Given the description of an element on the screen output the (x, y) to click on. 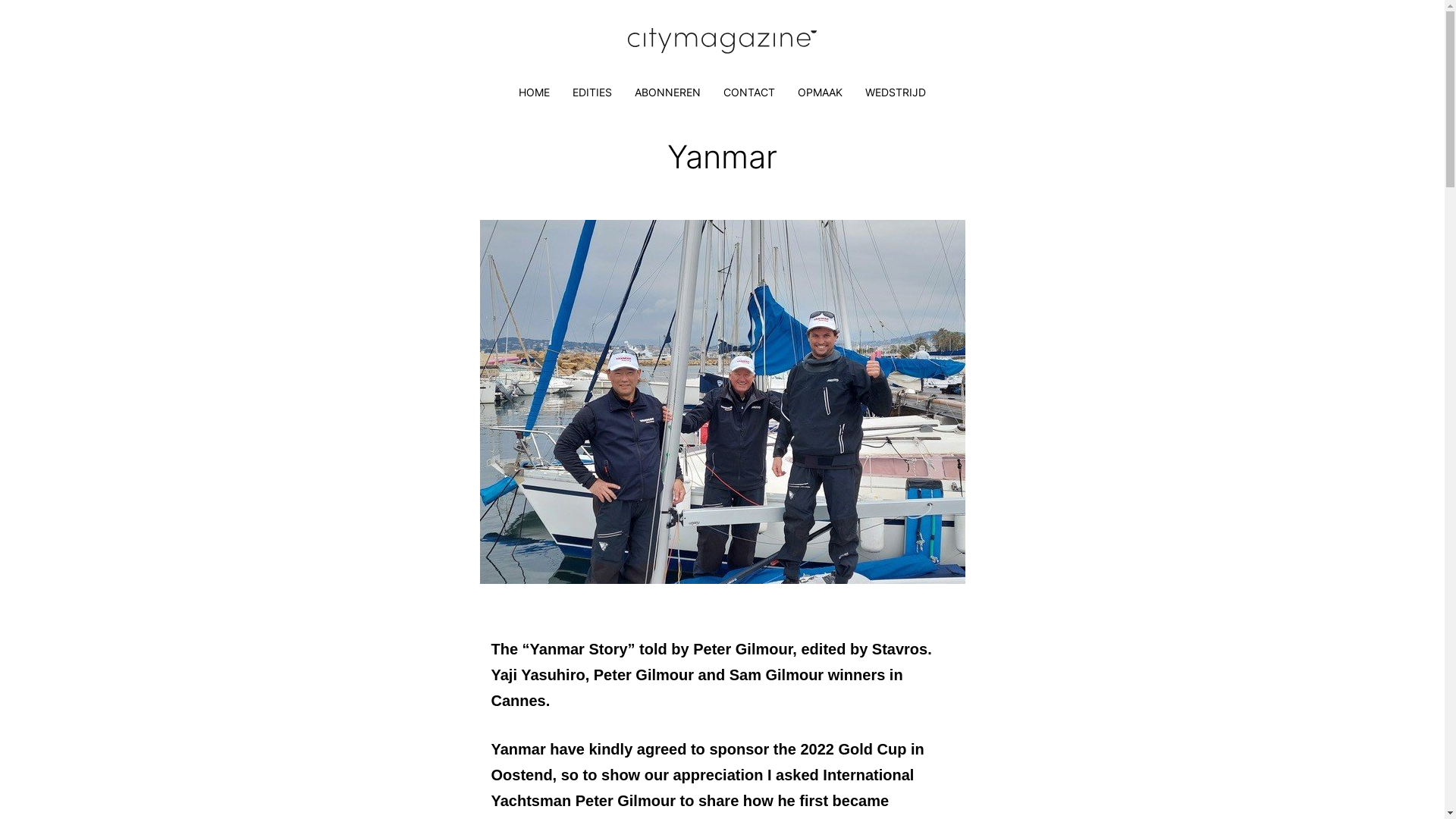
CONTACT Element type: text (749, 92)
ABONNEREN Element type: text (667, 92)
EDITIES Element type: text (592, 92)
HOME Element type: text (534, 92)
OPMAAK Element type: text (819, 92)
WEDSTRIJD Element type: text (895, 92)
